Given the description of an element on the screen output the (x, y) to click on. 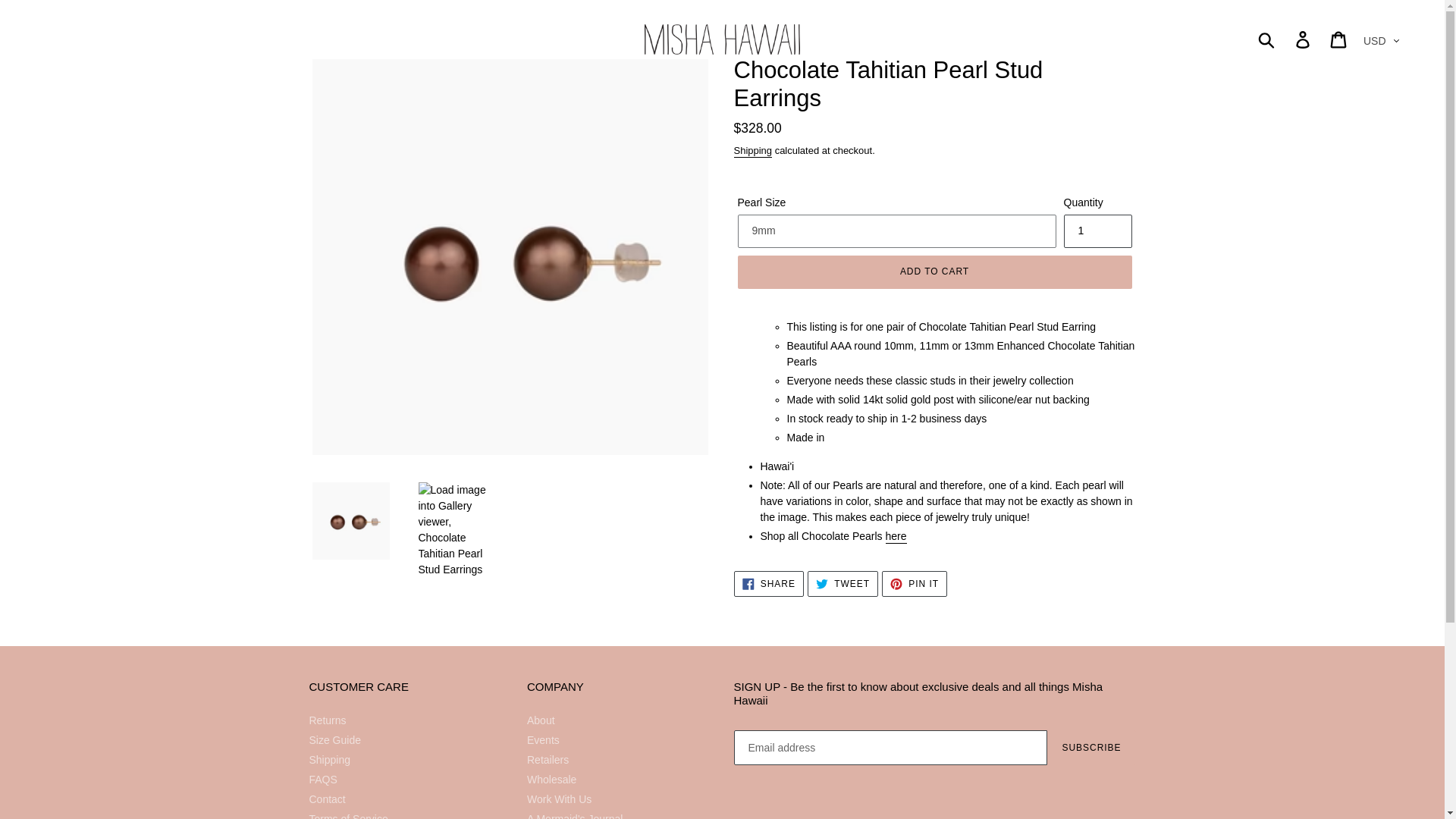
1 (1096, 231)
Log in (1303, 38)
Cart (1339, 38)
Submit (1267, 39)
